Given the description of an element on the screen output the (x, y) to click on. 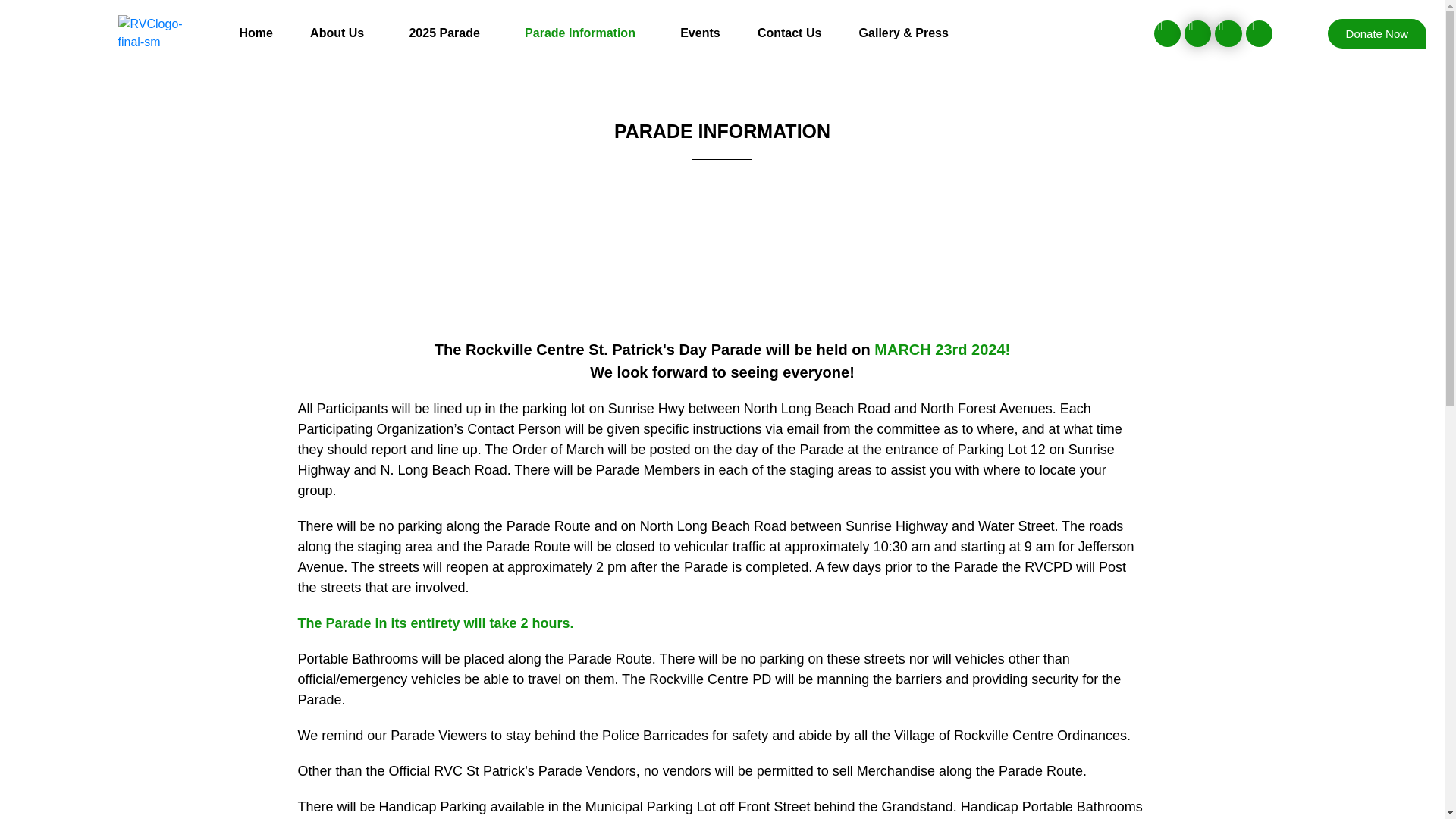
Donate Now (1376, 33)
Contact Us (789, 32)
About Us (340, 32)
2025 Parade (448, 32)
RVClogo-final-sm (161, 33)
Home (256, 32)
Parade Information (583, 32)
Events (700, 32)
